Given the description of an element on the screen output the (x, y) to click on. 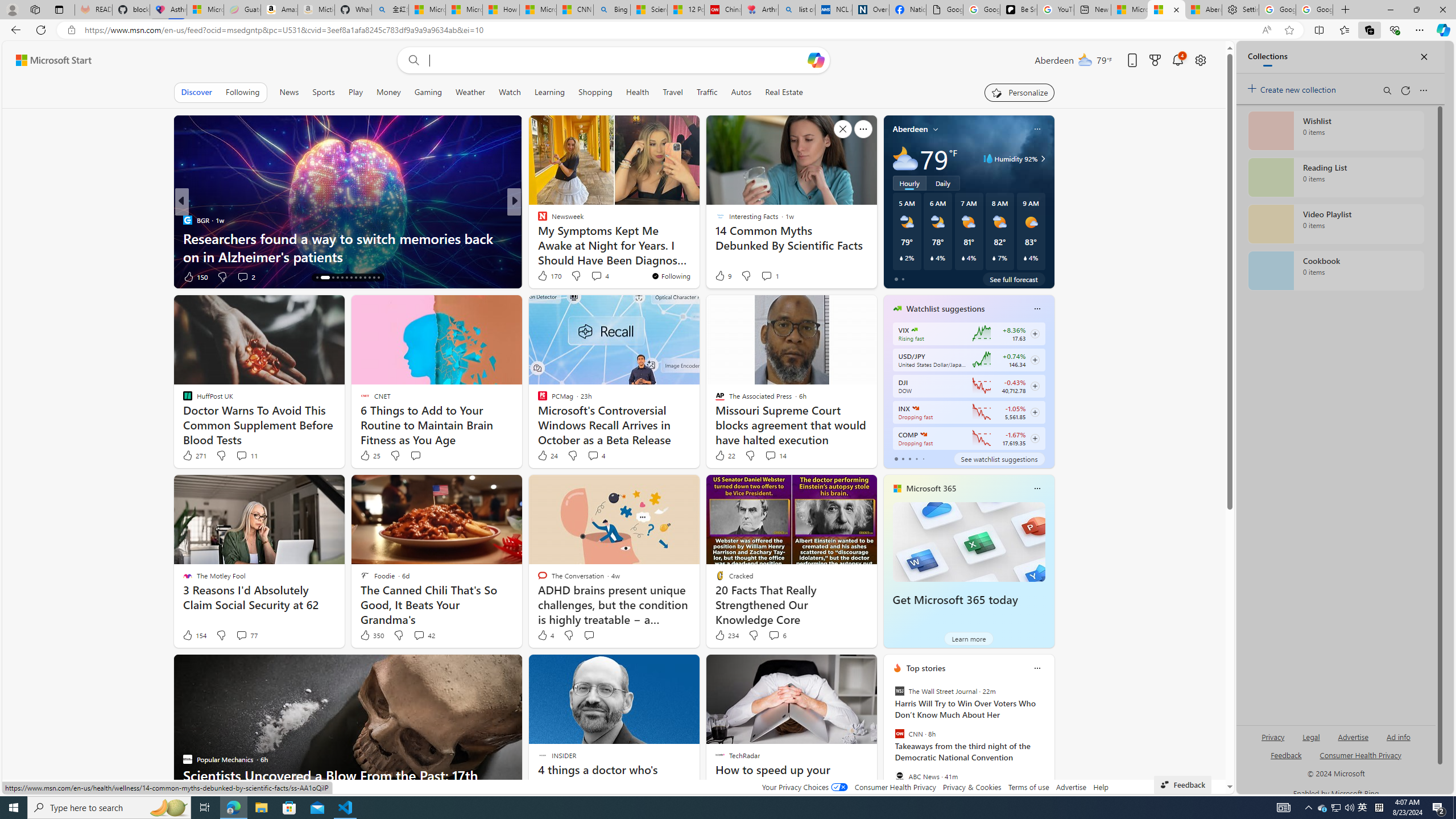
The Independent (537, 219)
Pocket-lint (537, 238)
AutomationID: tab-22 (360, 277)
Watchlist suggestions (945, 308)
View comments 231 Comment (588, 276)
Be Smart | creating Science videos | Patreon (1018, 9)
View comments 11 Comment (246, 455)
